Given the description of an element on the screen output the (x, y) to click on. 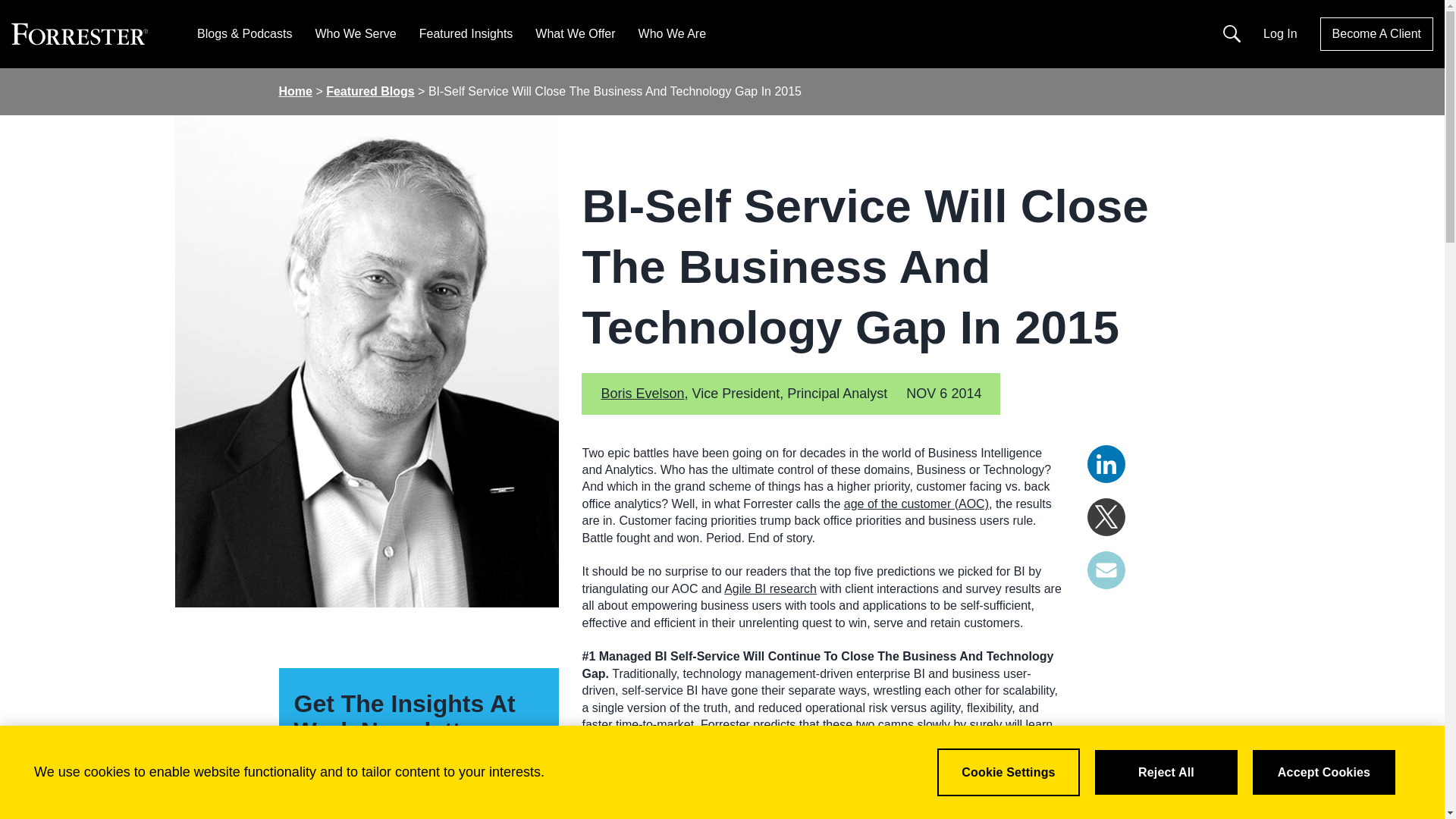
What We Offer (574, 33)
Posts by Boris Evelson (641, 392)
Featured Insights (466, 33)
Who We Serve (355, 33)
